Given the description of an element on the screen output the (x, y) to click on. 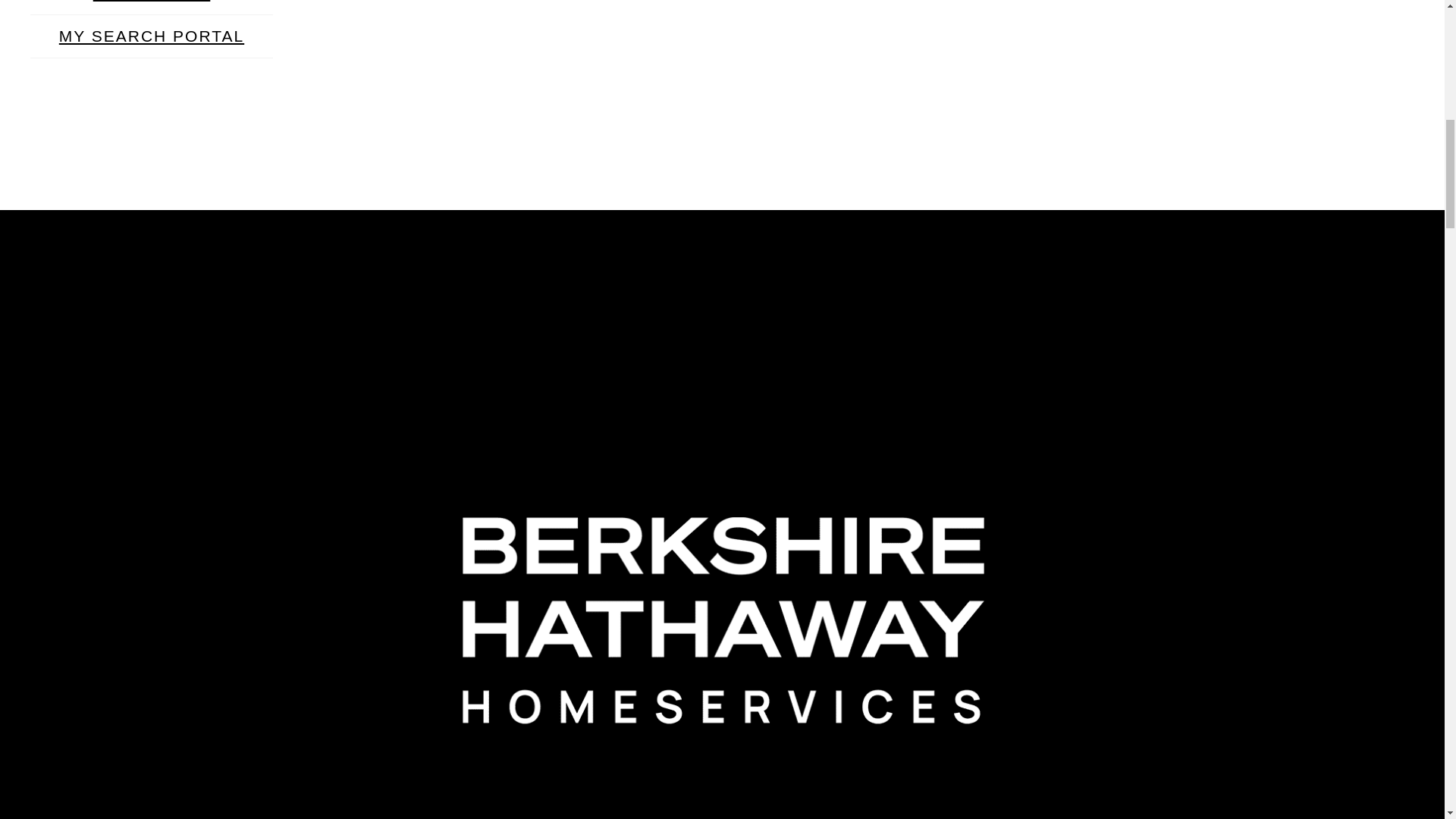
MY SEARCH PORTAL (150, 36)
CONTACT US (151, 5)
